Given the description of an element on the screen output the (x, y) to click on. 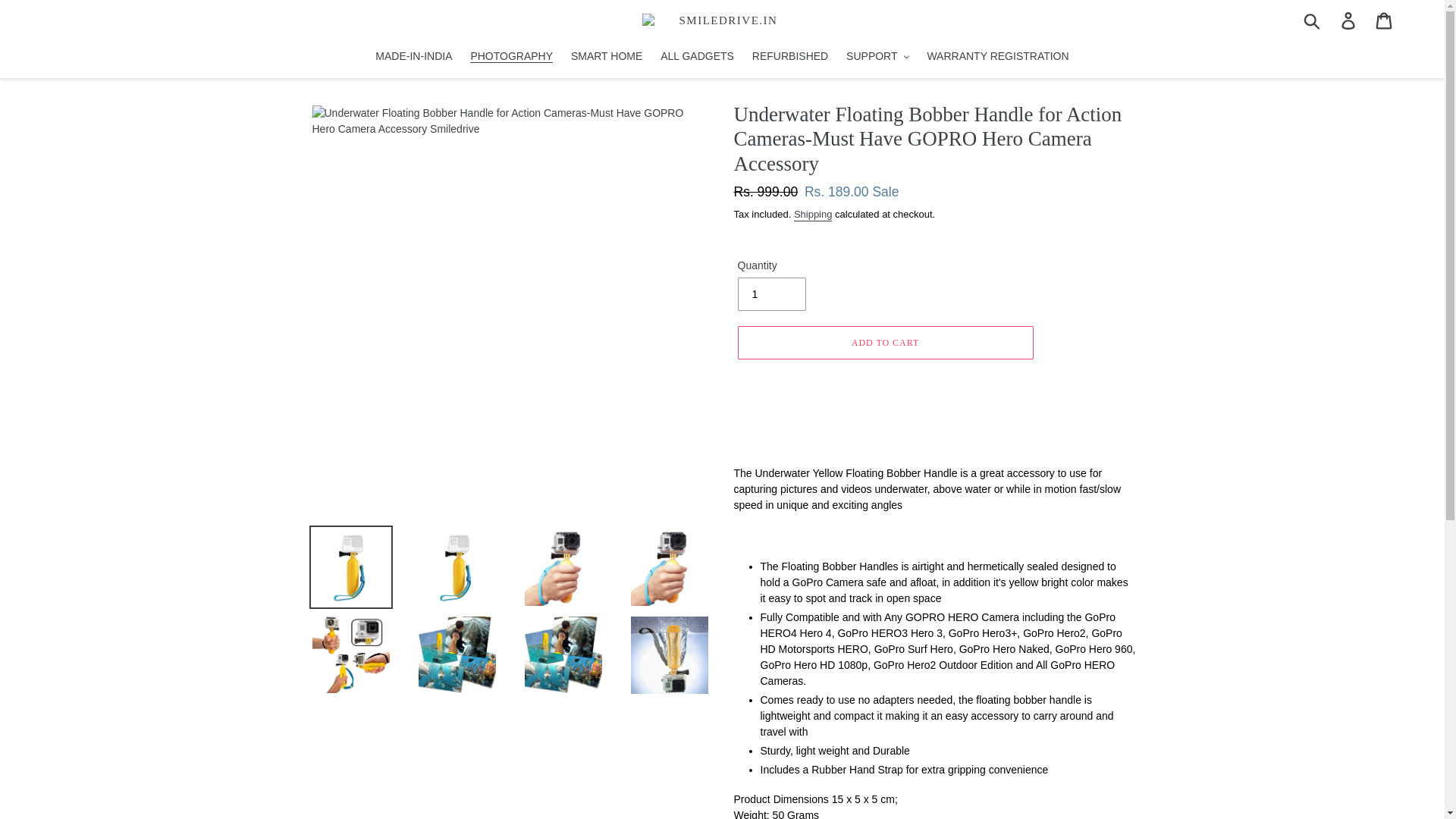
1 (770, 294)
PHOTOGRAPHY (511, 57)
REFURBISHED (789, 57)
Cart (1385, 20)
SMART HOME (606, 57)
Log in (1349, 20)
MADE-IN-INDIA (414, 57)
ALL GADGETS (696, 57)
Submit (1313, 20)
